Given the description of an element on the screen output the (x, y) to click on. 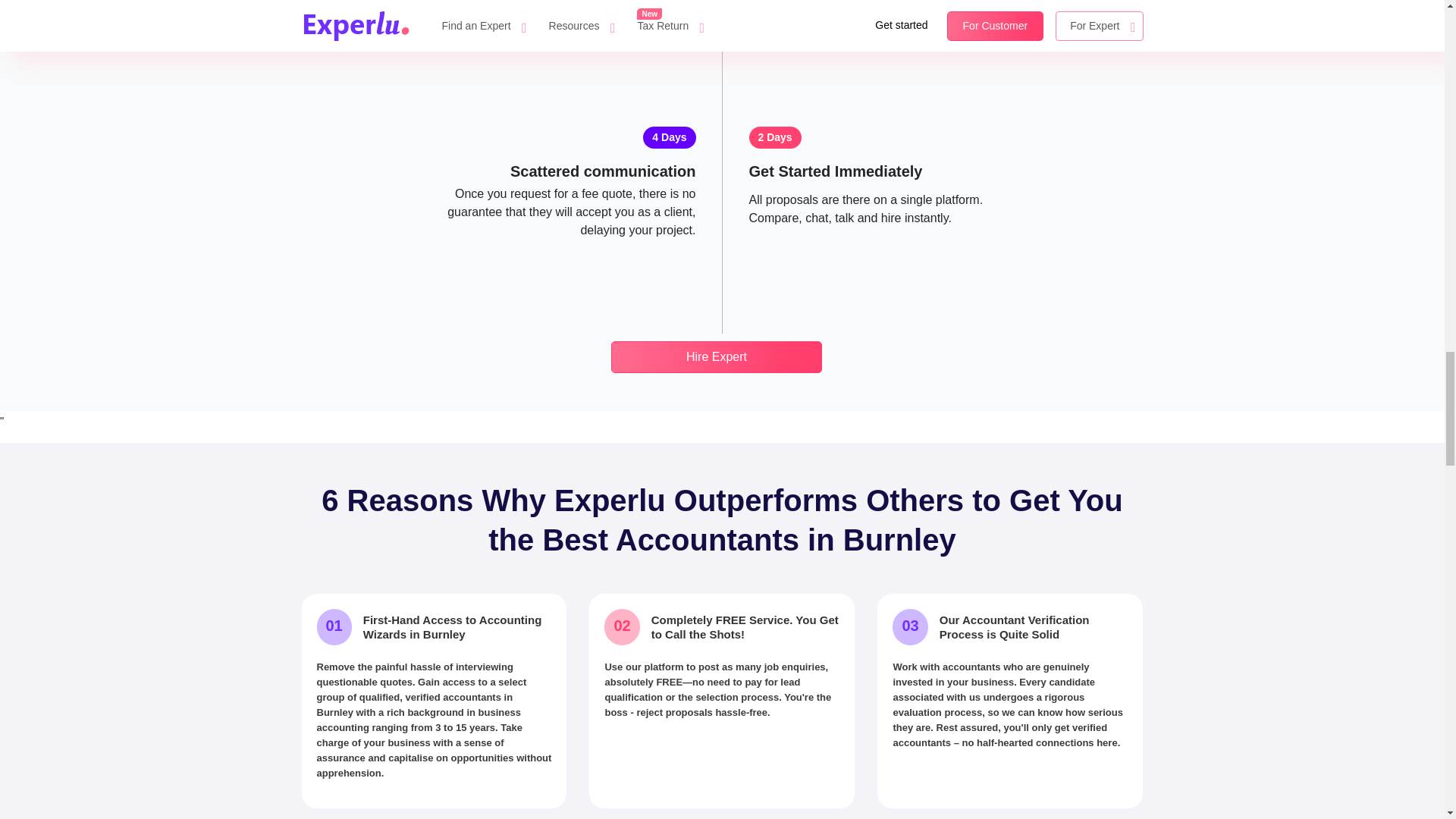
Hire Expert (716, 357)
